Given the description of an element on the screen output the (x, y) to click on. 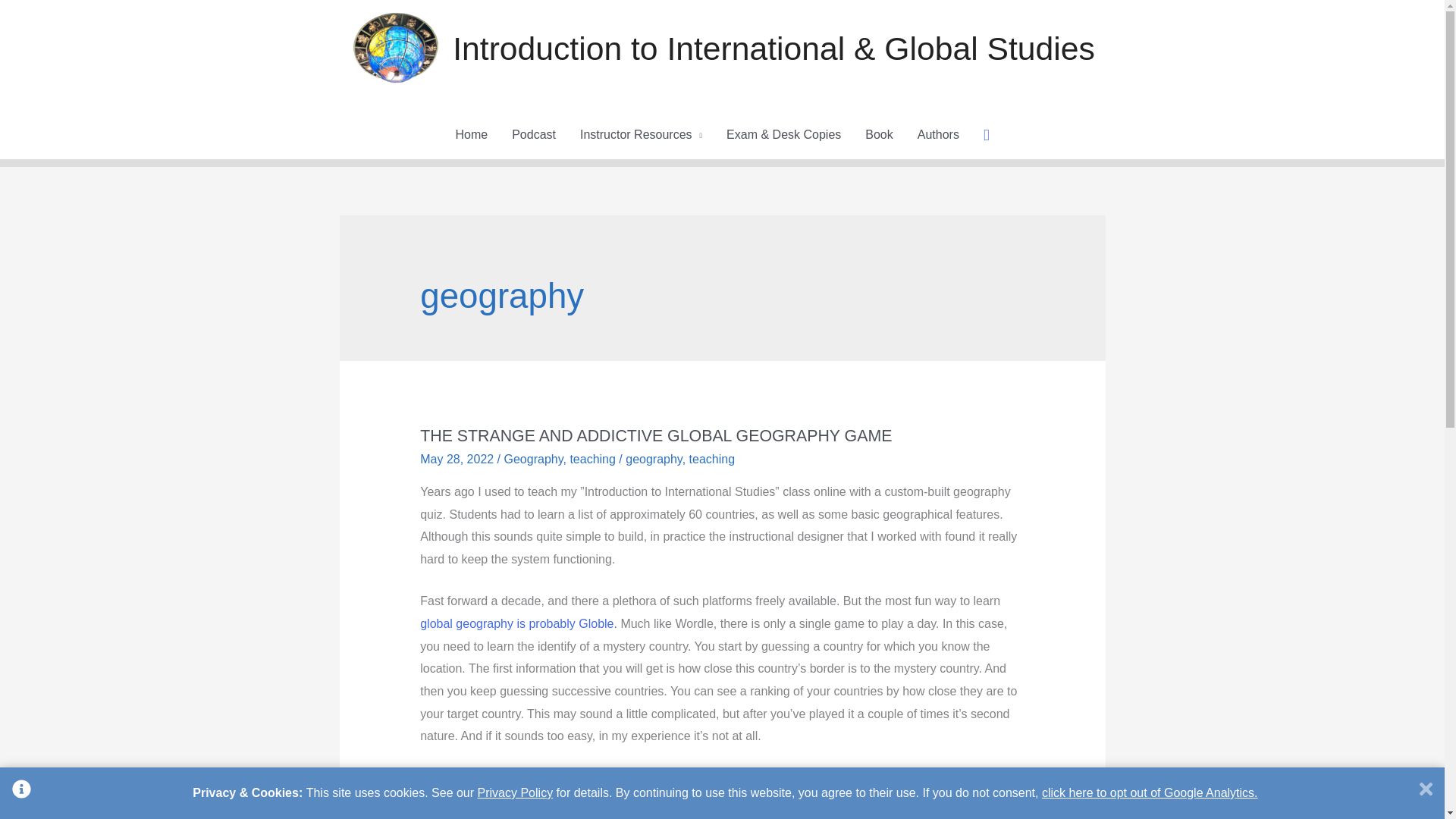
global geography is probably Globle. (520, 623)
teaching (592, 459)
Instructor Resources (640, 134)
Geography (533, 459)
Authors (938, 134)
click here to opt out of Google Analytics. (1149, 792)
Privacy Policy (515, 792)
THE STRANGE AND ADDICTIVE GLOBAL GEOGRAPHY GAME (655, 435)
teaching (711, 459)
Book (878, 134)
geography (653, 459)
Podcast (533, 134)
Home (470, 134)
